Given the description of an element on the screen output the (x, y) to click on. 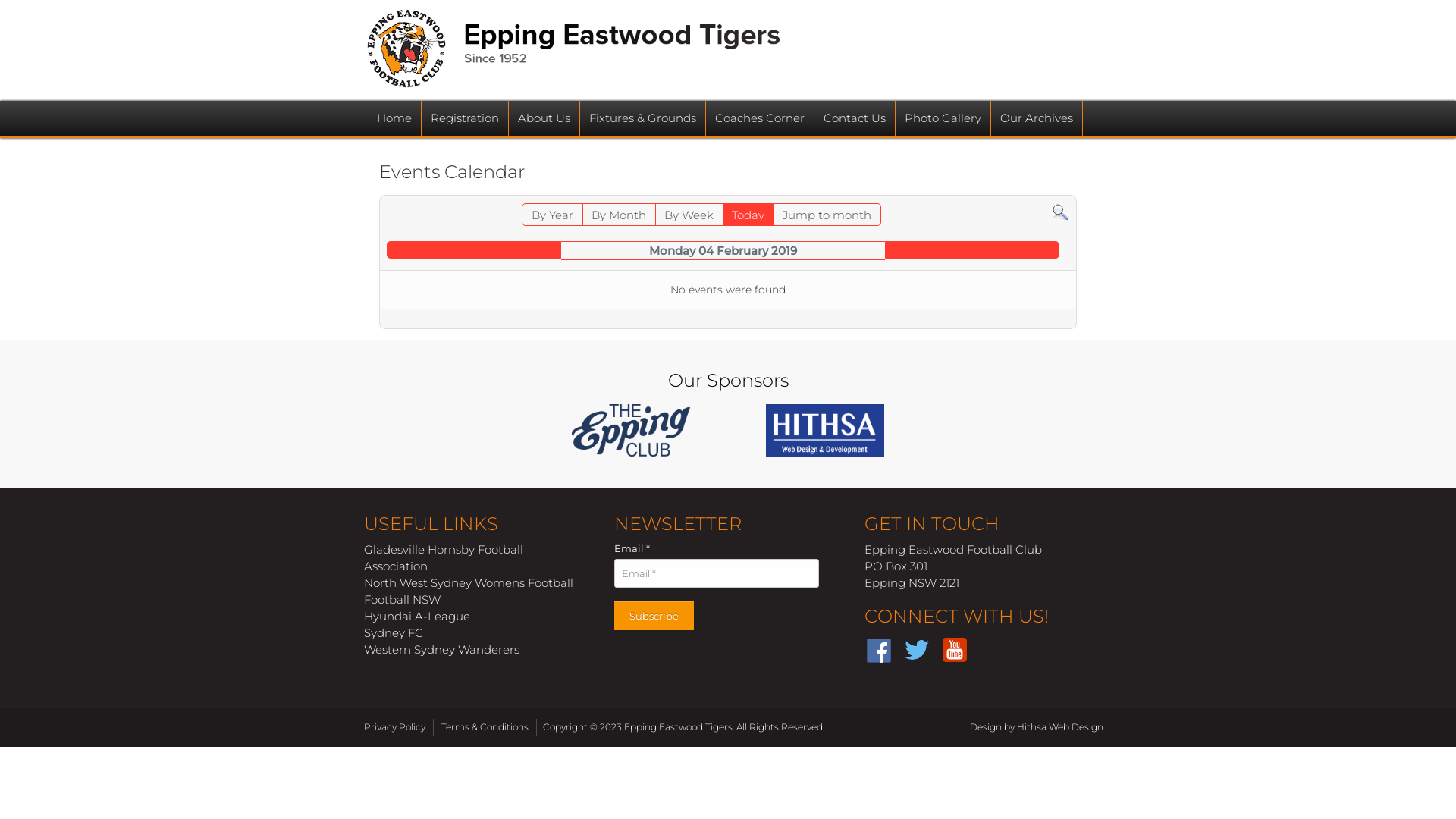
Jump to month Element type: text (826, 214)
Hithsa Web Design Element type: text (1059, 726)
About Us Element type: text (543, 117)
Privacy Policy Element type: text (396, 726)
Terms & Conditions Element type: text (486, 726)
Home Element type: text (393, 117)
Contact Us Element type: text (854, 117)
North West Sydney Womens Football Element type: text (468, 583)
Our Archives Element type: text (1036, 117)
Football NSW Element type: text (402, 600)
Today Element type: text (747, 214)
Hyundai A-League Element type: text (417, 616)
Search Element type: hover (1060, 210)
By Year Element type: text (552, 214)
By Month Element type: text (618, 214)
Western Sydney Wanderers Element type: text (441, 650)
Sydney FC Element type: text (393, 633)
Gladesville Hornsby Football Association Element type: text (443, 558)
By Week Element type: text (688, 214)
Subscribe Element type: text (653, 616)
Coaches Corner Element type: text (759, 117)
Fixtures & Grounds Element type: text (642, 117)
Photo Gallery Element type: text (942, 117)
Registration Element type: text (464, 117)
